Given the description of an element on the screen output the (x, y) to click on. 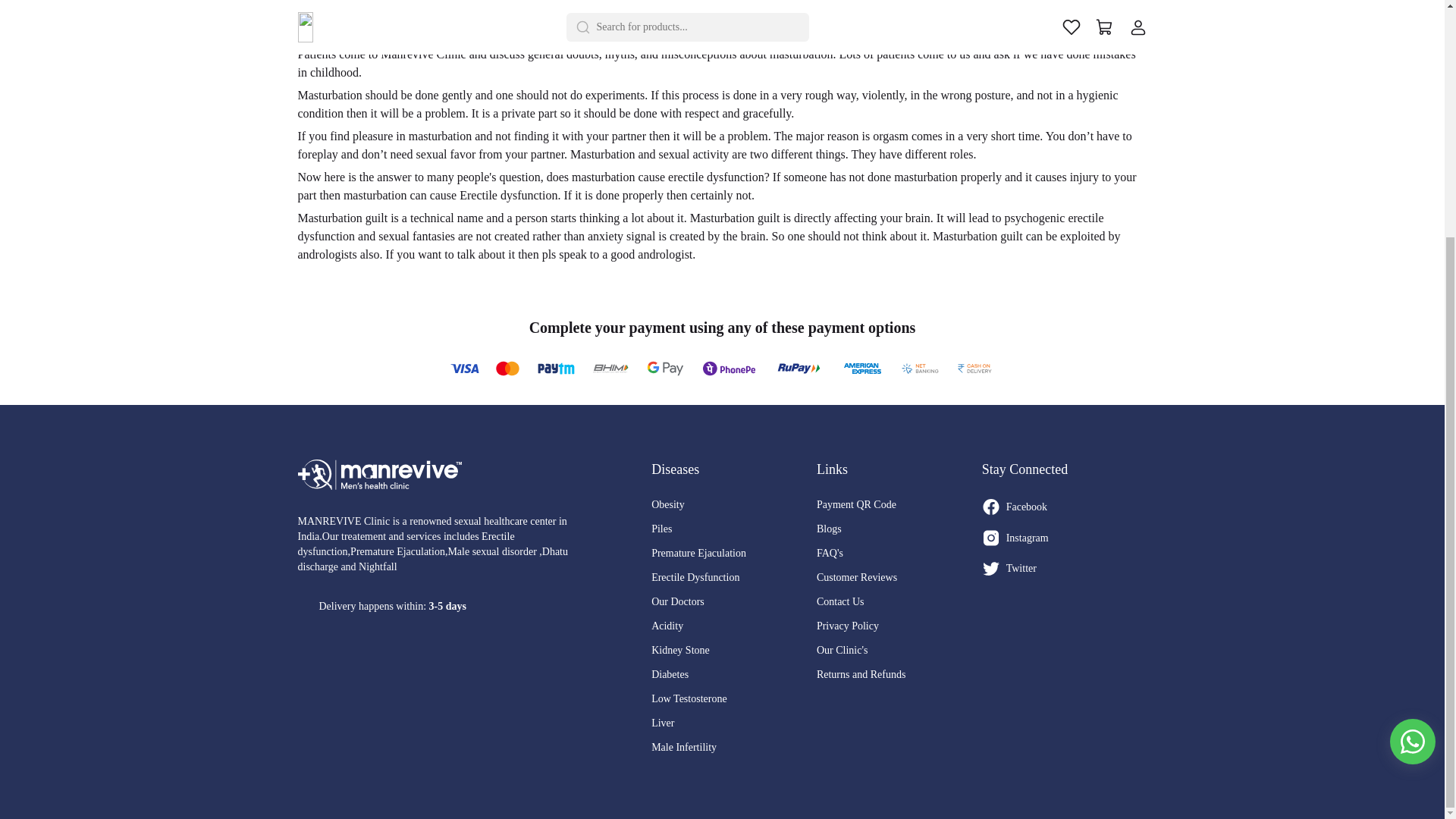
Liver (733, 723)
Privacy Policy (898, 626)
Our Doctors (733, 601)
Returns and Refunds (898, 674)
Customer Reviews (898, 577)
FAQ's (898, 553)
Premature Ejaculation (733, 553)
Blogs (898, 529)
Payment QR Code (898, 504)
Erectile Dysfunction (733, 577)
Male Infertility (733, 747)
Acidity (733, 626)
Piles (733, 529)
Facebook (1064, 512)
Diabetes (733, 674)
